Given the description of an element on the screen output the (x, y) to click on. 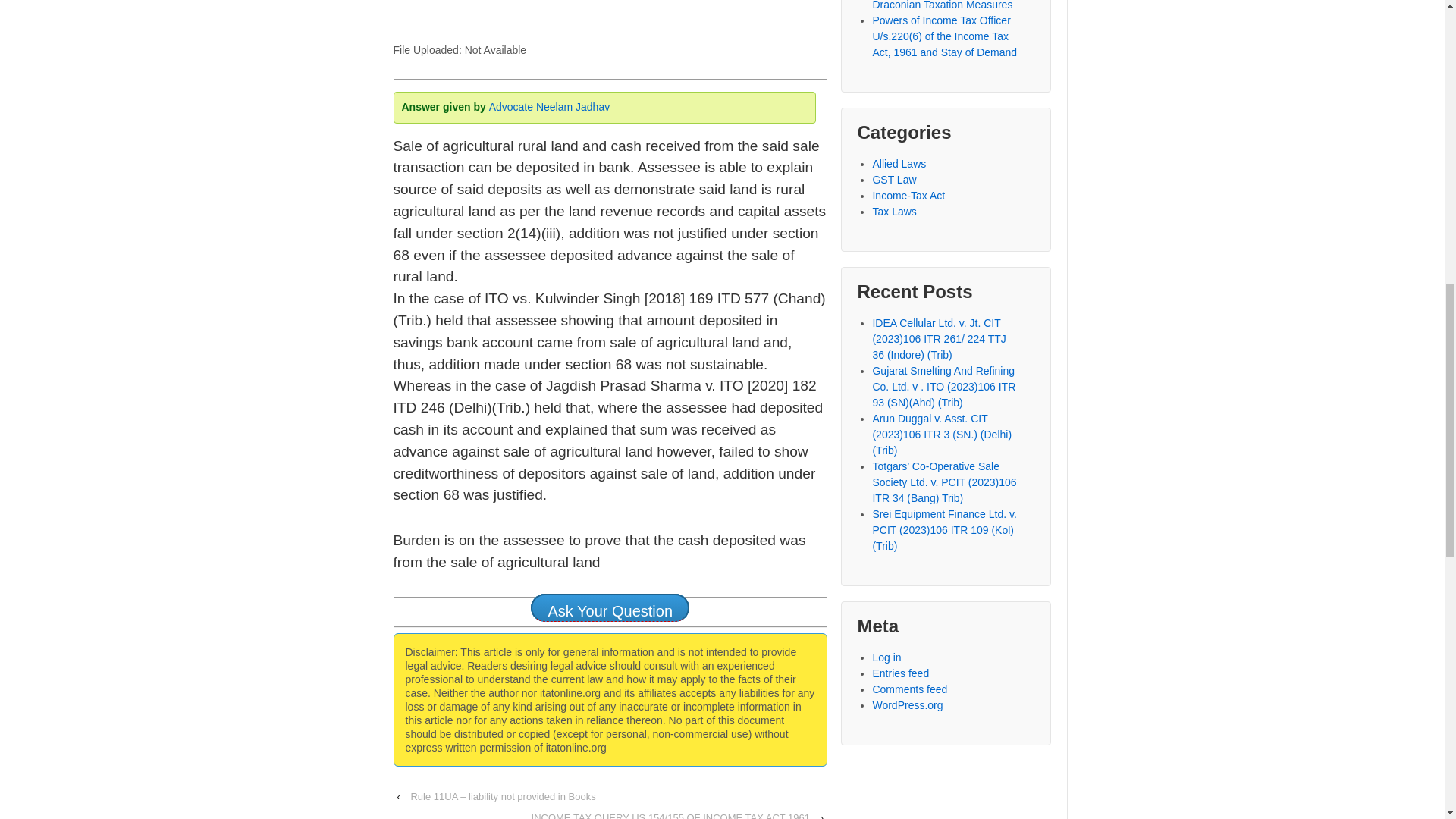
Ask Your Question (609, 607)
Entries feed (900, 673)
Advocate Neelam Jadhav (549, 107)
GST Law (893, 179)
Allied Laws (899, 163)
Log in (886, 657)
Tax Laws (893, 211)
Income-Tax Act (908, 195)
